Given the description of an element on the screen output the (x, y) to click on. 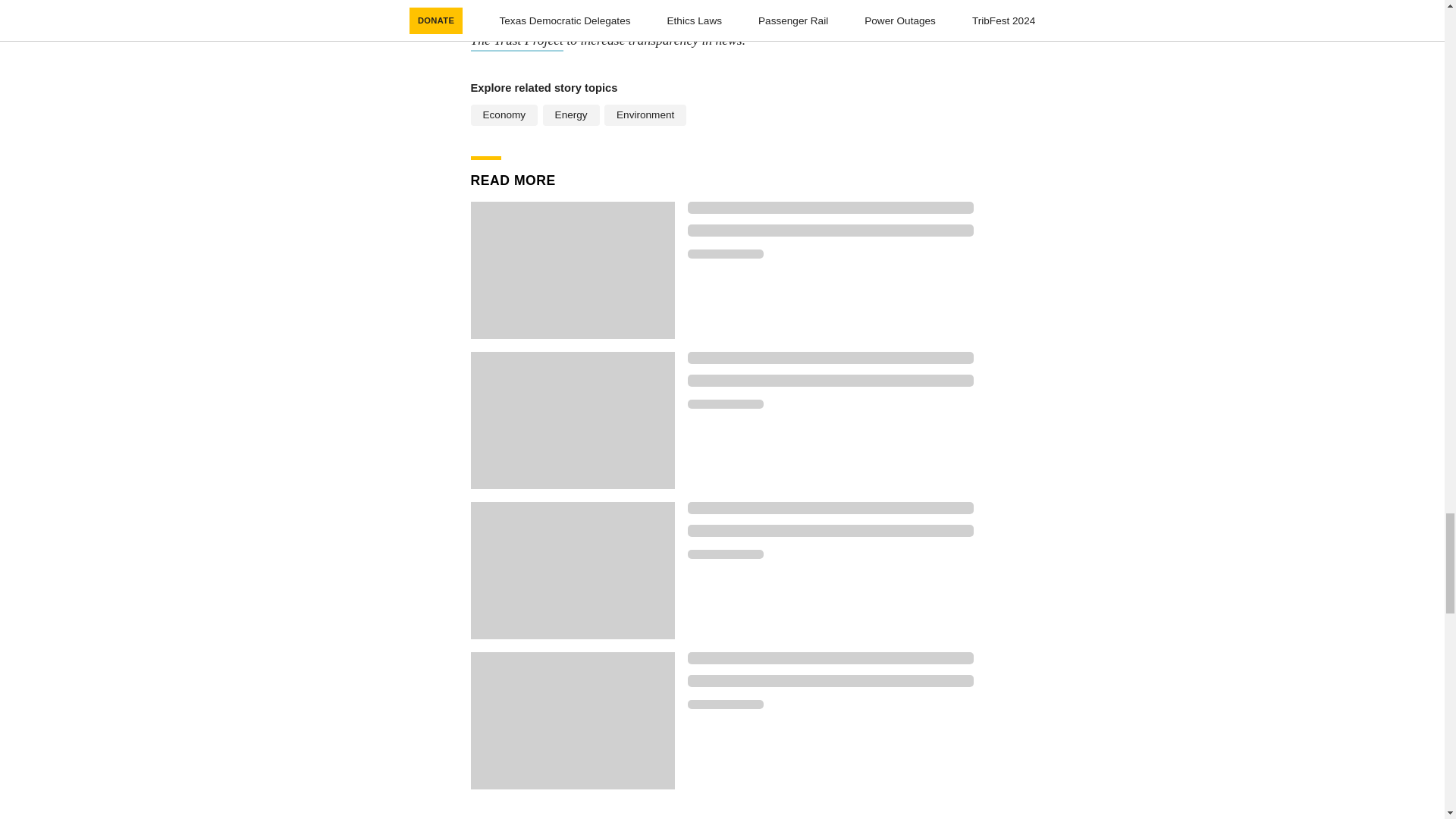
Loading indicator (830, 530)
Loading indicator (830, 657)
Loading indicator (724, 403)
Loading indicator (724, 253)
Loading indicator (830, 380)
Loading indicator (724, 704)
Loading indicator (830, 207)
Loading indicator (830, 508)
Loading indicator (830, 680)
Loading indicator (830, 230)
Loading indicator (830, 357)
Loading indicator (724, 553)
